Given the description of an element on the screen output the (x, y) to click on. 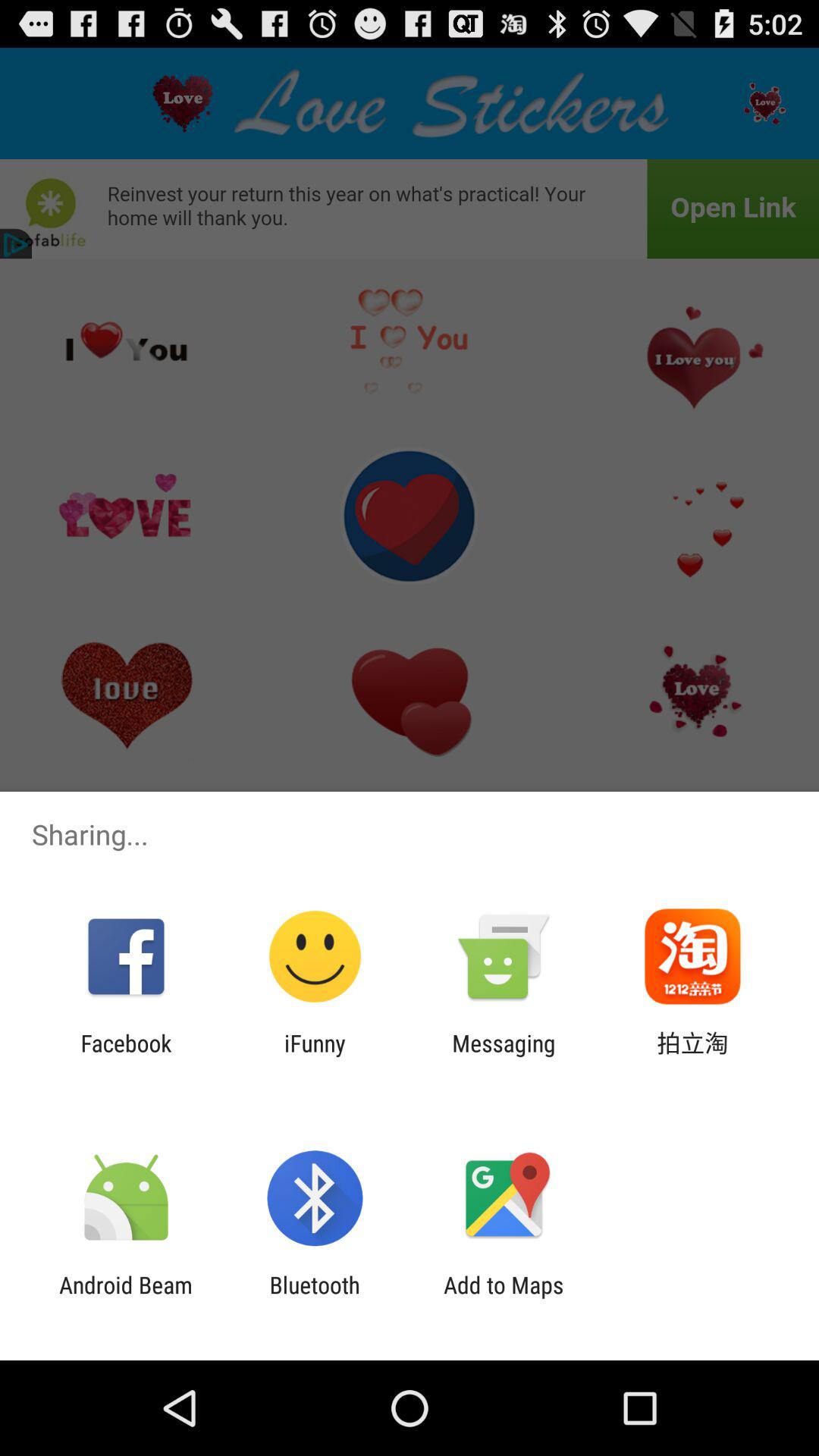
choose bluetooth icon (314, 1298)
